Given the description of an element on the screen output the (x, y) to click on. 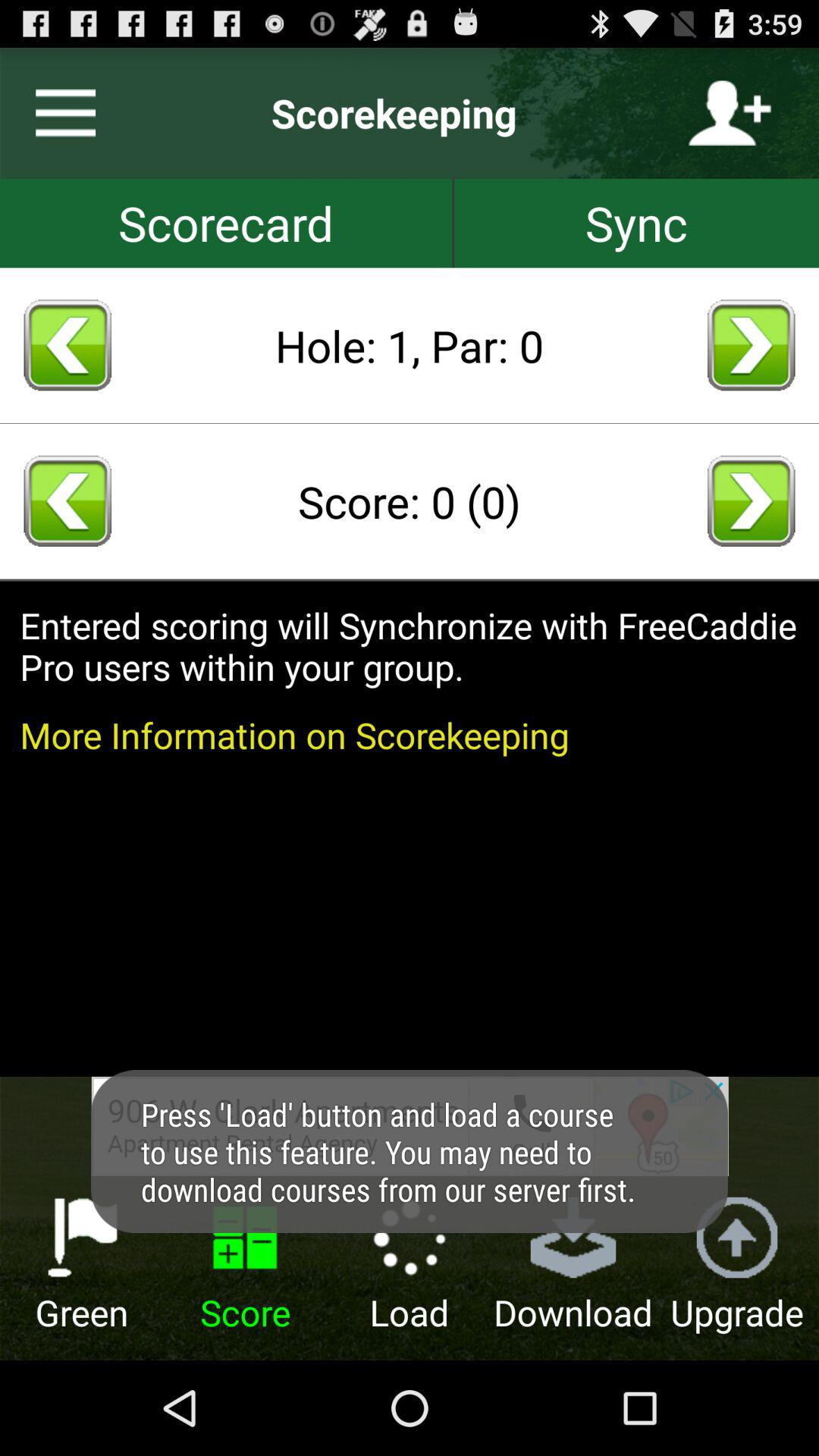
add user (729, 112)
